Given the description of an element on the screen output the (x, y) to click on. 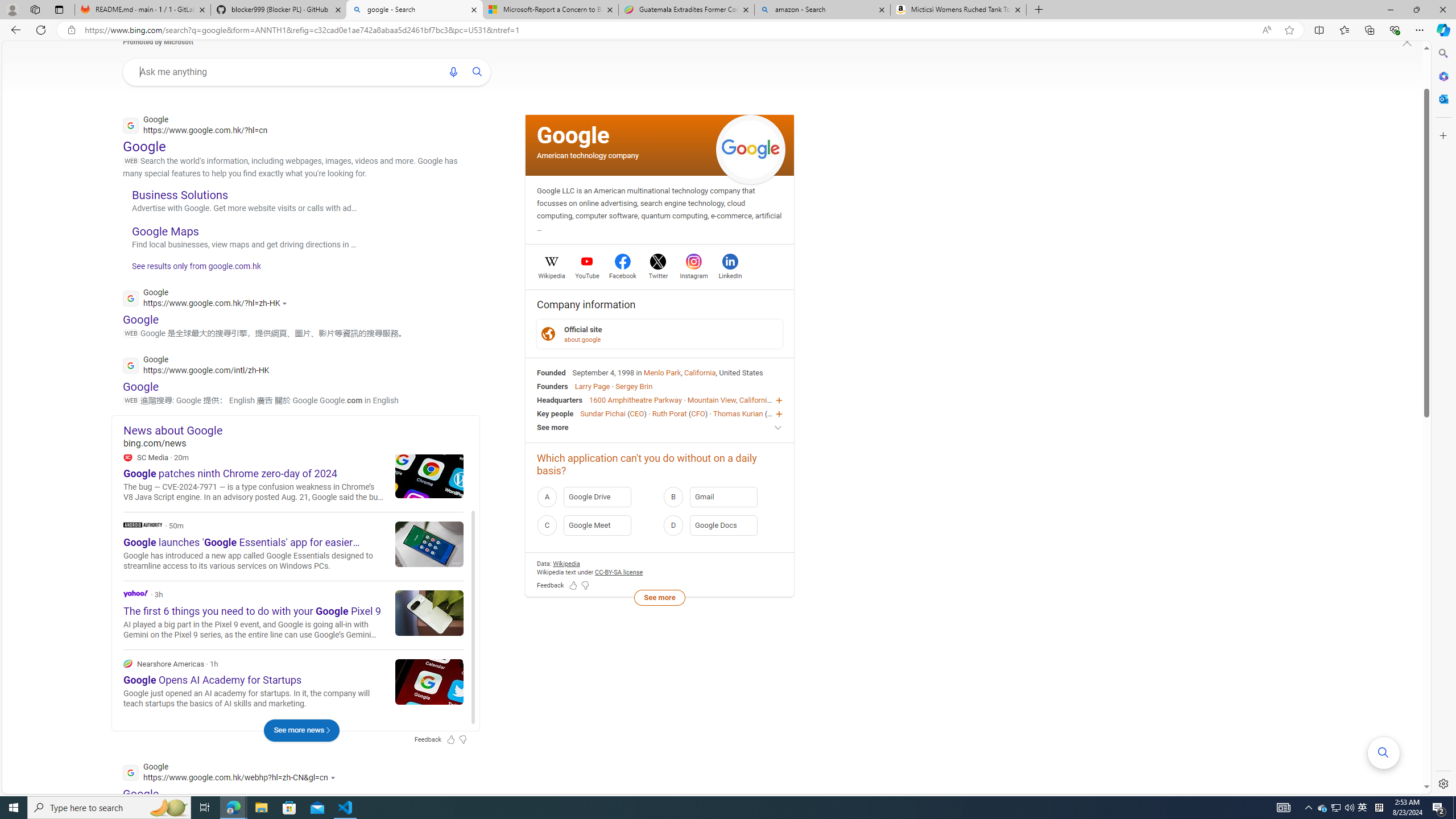
Official Site Official site about.google (659, 333)
Google Maps (165, 231)
Official siteabout.google (660, 333)
Class: rms_img (1407, 41)
amazon - Search (822, 9)
Nearshore Americas (293, 683)
Tab actions menu (58, 9)
Microsoft 365 (1442, 76)
Global web icon (130, 772)
Favorites (1344, 29)
Microsoft-Report a Concern to Bing (550, 9)
A Google Drive (596, 496)
Yahoo (293, 614)
